Given the description of an element on the screen output the (x, y) to click on. 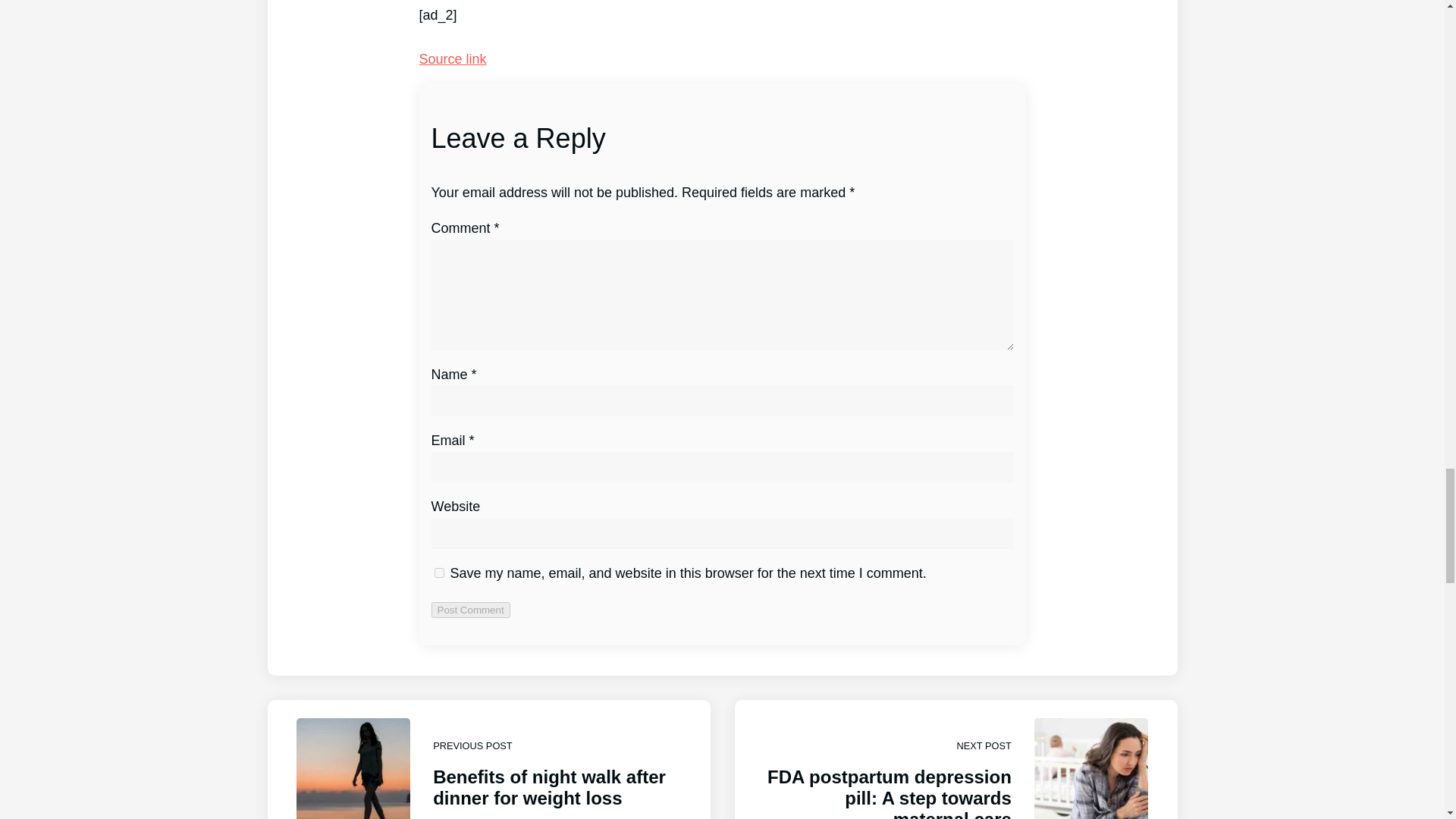
Post Comment (469, 609)
Source link (452, 58)
yes (438, 573)
Post Comment (469, 609)
